Given the description of an element on the screen output the (x, y) to click on. 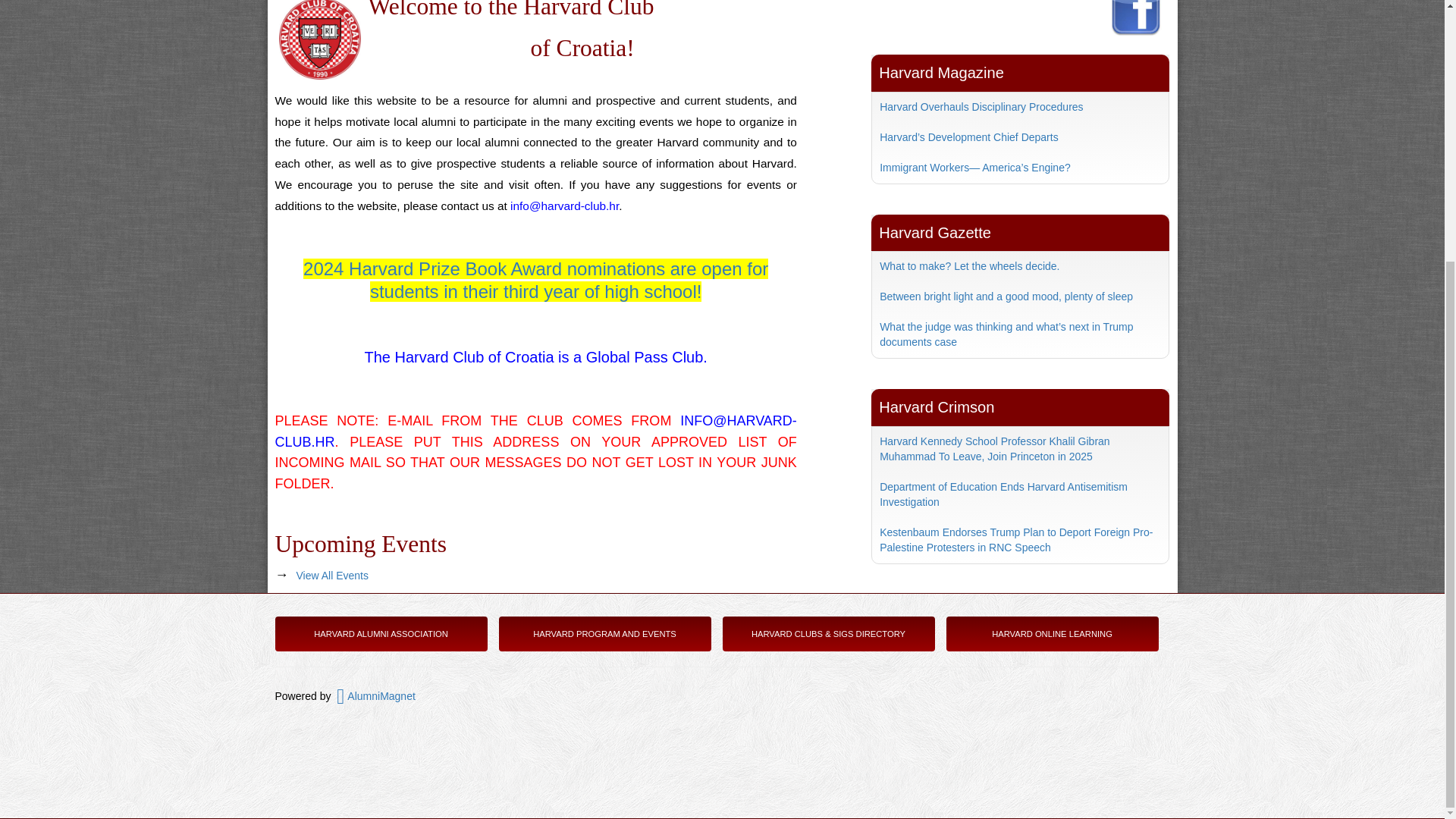
View All Events (332, 575)
